Given the description of an element on the screen output the (x, y) to click on. 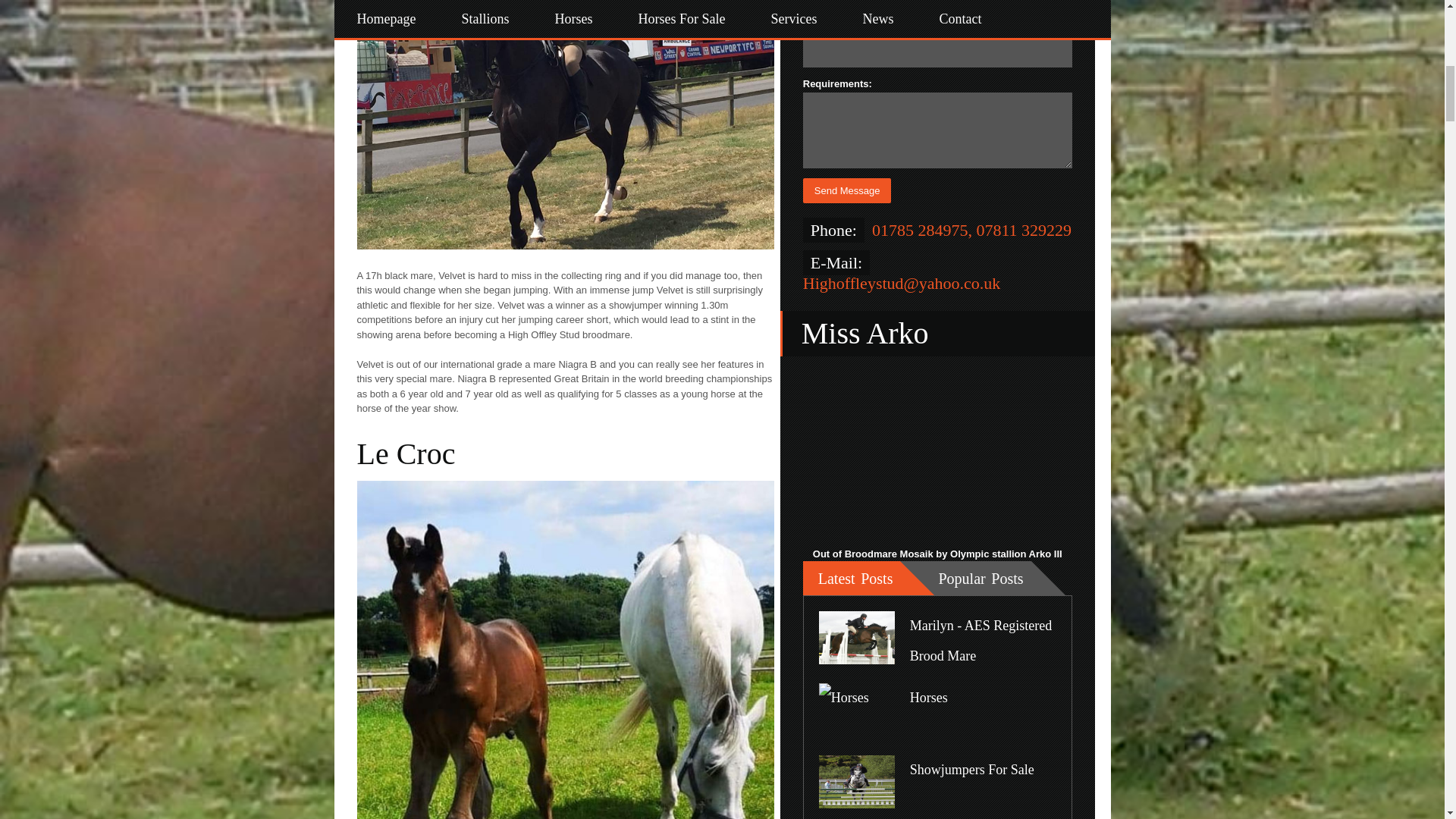
tab1 (852, 578)
Popular Posts (964, 578)
Marilyn - AES Registered Brood Mare (980, 640)
Showjumpers For Sale (971, 769)
tab2 (964, 578)
Horses (928, 697)
Send Message (847, 190)
Latest Posts (852, 578)
Send Message (847, 190)
